Given the description of an element on the screen output the (x, y) to click on. 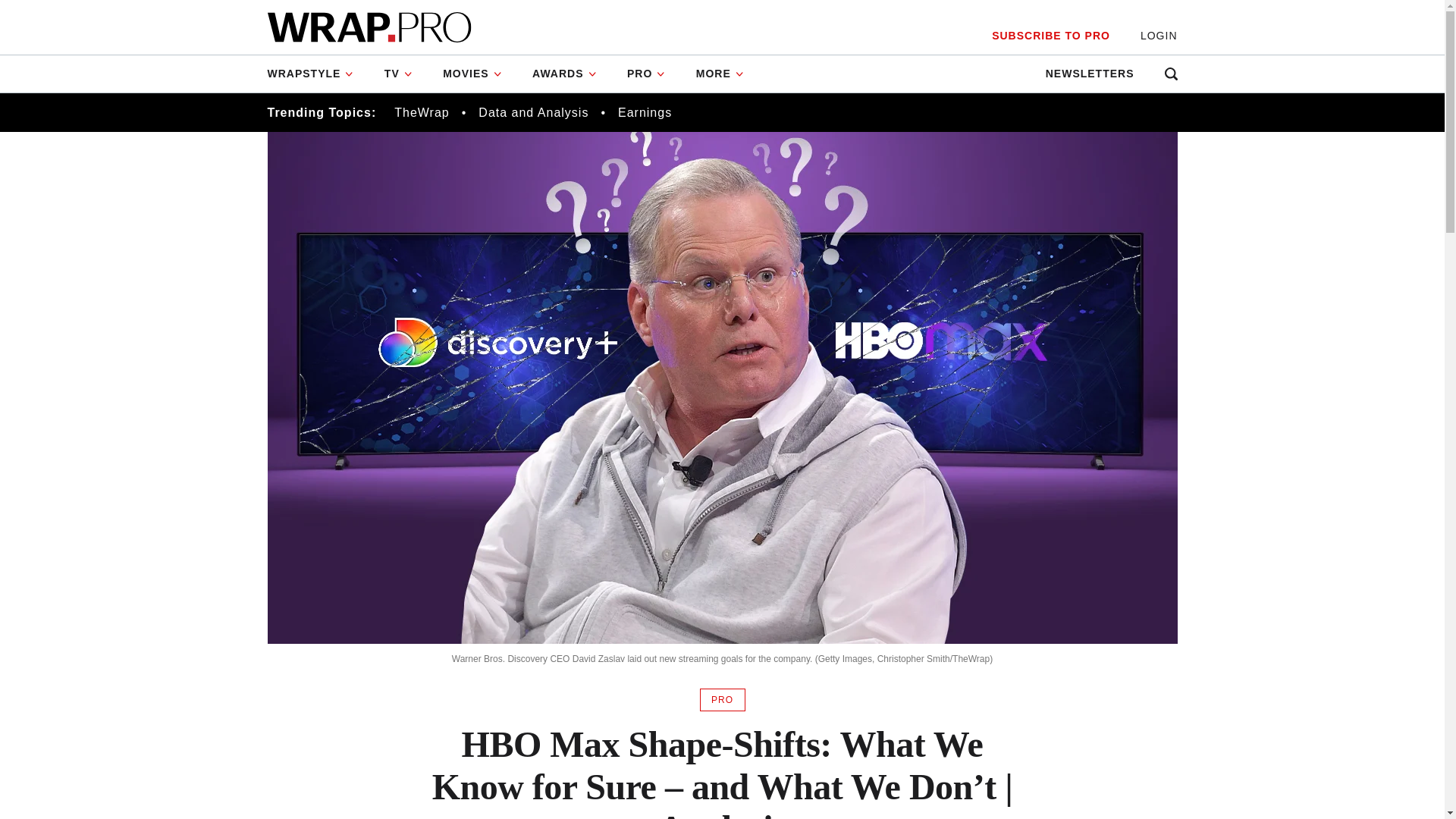
LOGIN (1158, 35)
TV (398, 73)
PRO (646, 73)
SUBSCRIBE TO PRO (1050, 35)
WRAPSTYLE (317, 73)
AWARDS (563, 73)
MORE (719, 73)
MOVIES (472, 73)
